Given the description of an element on the screen output the (x, y) to click on. 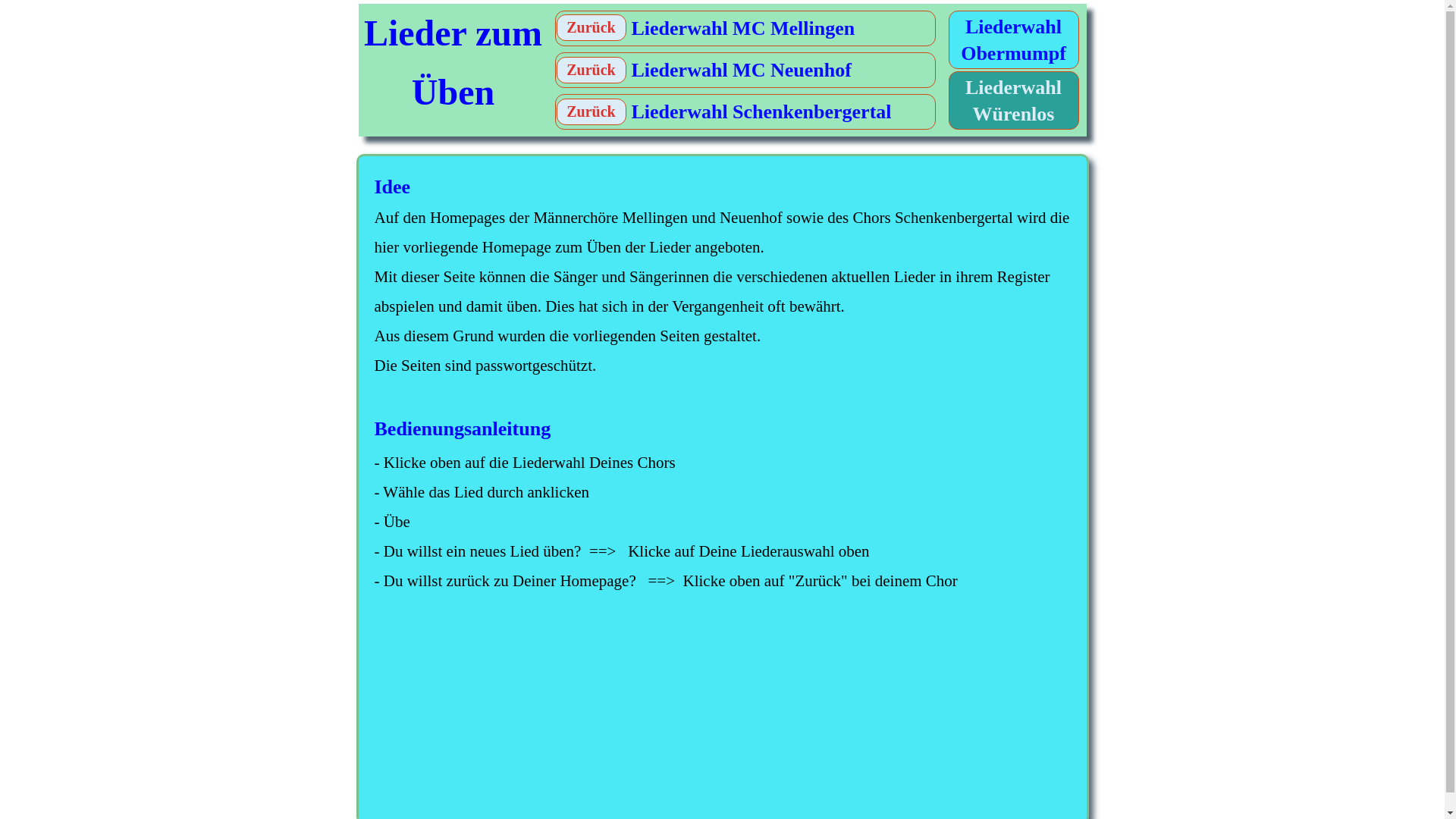
Liederwahl Schenkenbergertal Element type: text (744, 115)
Liederwahl Obermumpf Element type: text (1013, 41)
Liederwahl MC Mellingen     Element type: text (744, 32)
Liederwahl MC Neuenhof Element type: text (744, 73)
